Given the description of an element on the screen output the (x, y) to click on. 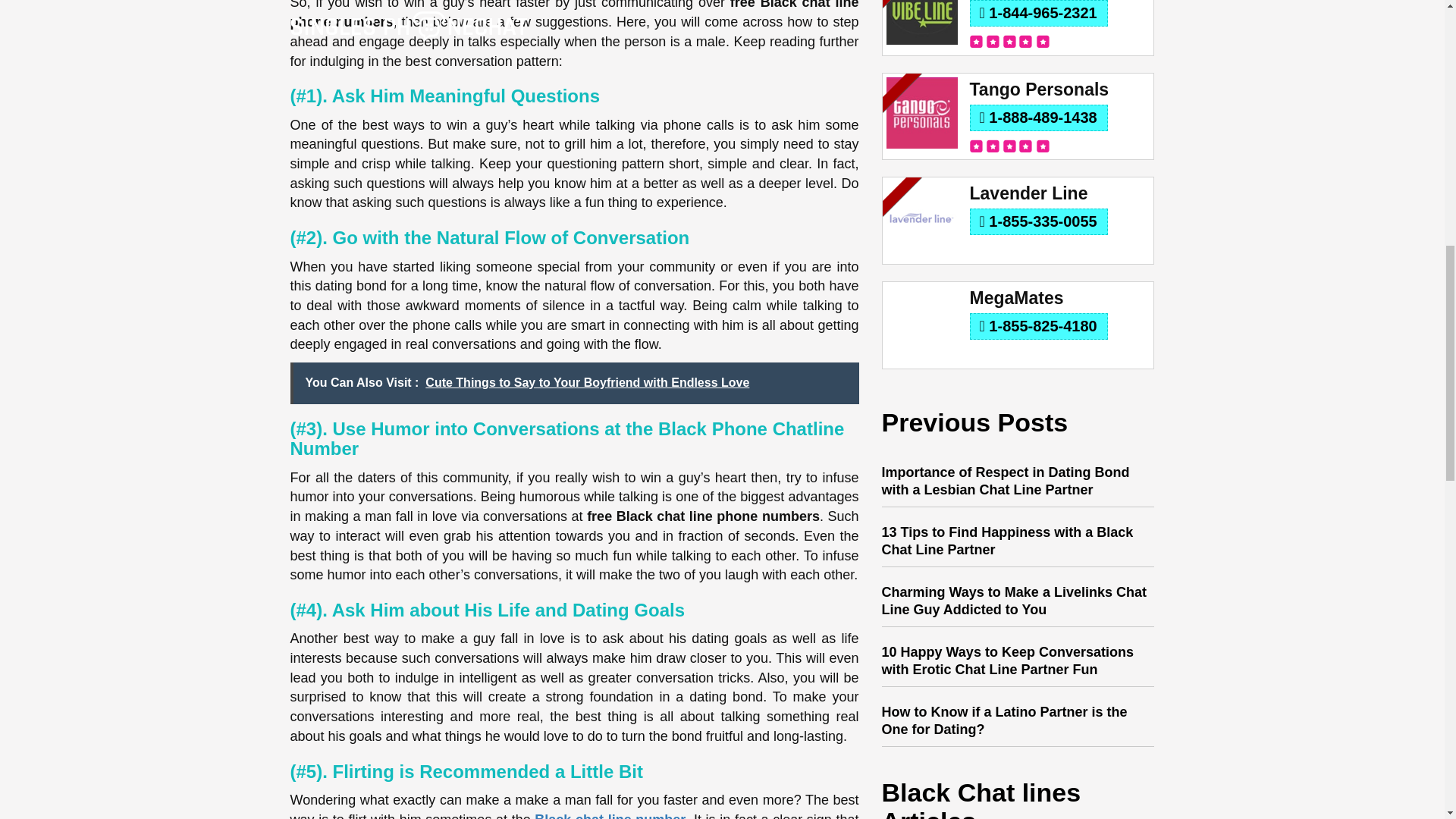
Black chat line number (609, 815)
